Given the description of an element on the screen output the (x, y) to click on. 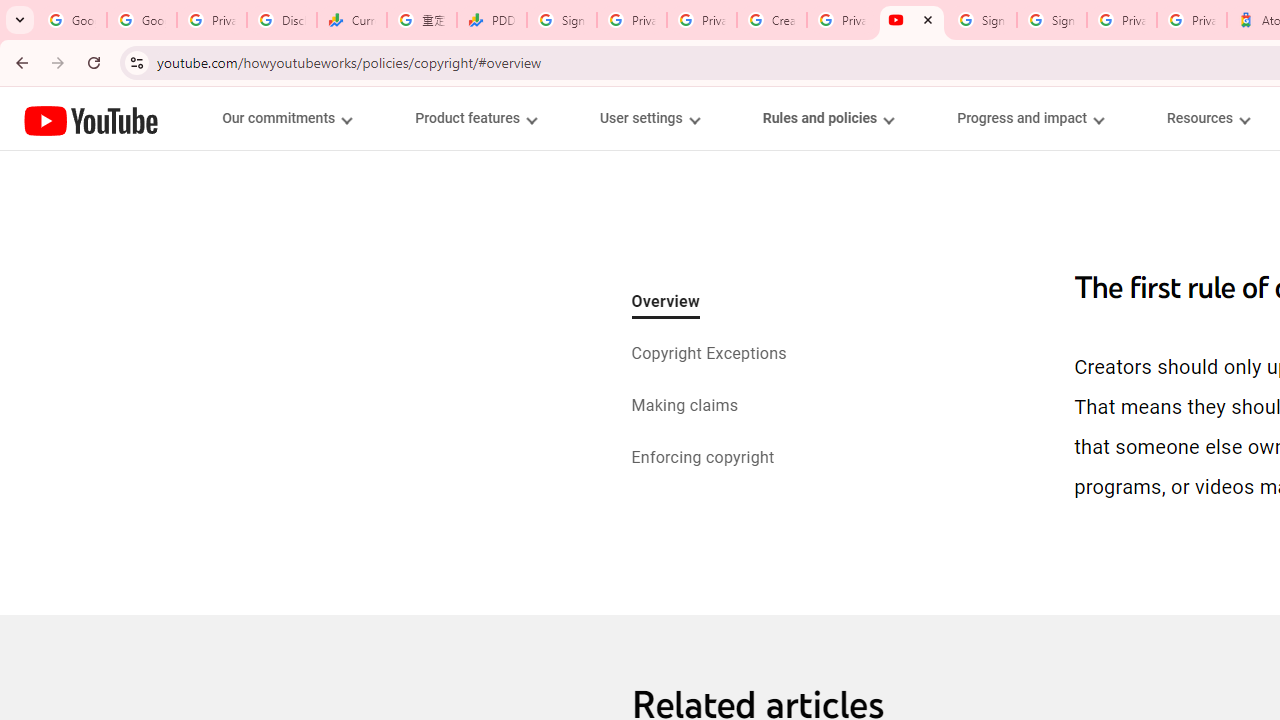
Sign in - Google Accounts (1051, 20)
Making claims (684, 407)
Product features menupopup (475, 118)
Rules and policies menupopup (827, 118)
Sign in - Google Accounts (561, 20)
Currencies - Google Finance (351, 20)
Privacy Checkup (701, 20)
How YouTube Works (91, 118)
